Given the description of an element on the screen output the (x, y) to click on. 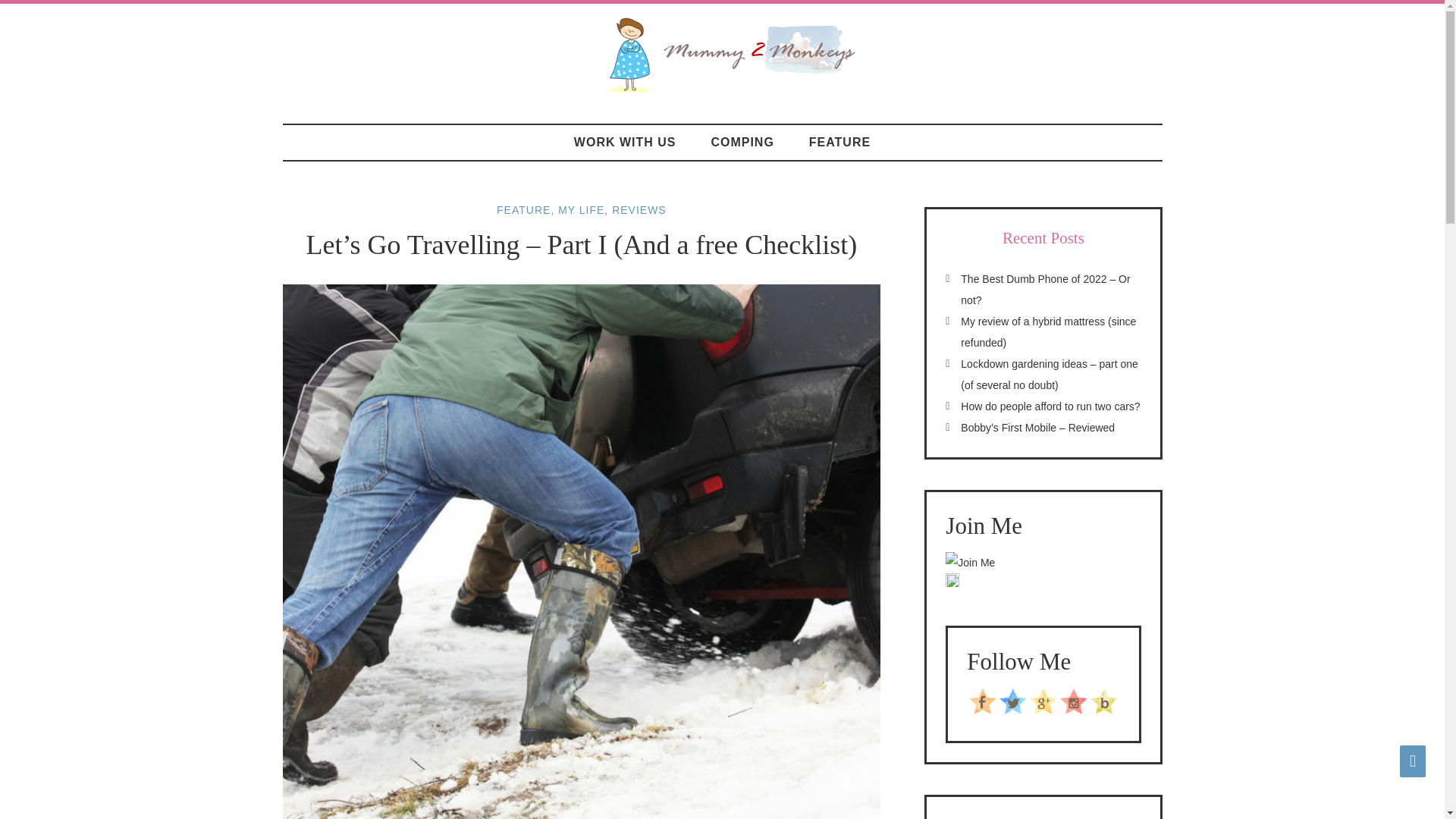
Googleplus (1043, 711)
FEATURE (839, 141)
Instagram (1073, 711)
MY LIFE (580, 209)
REVIEWS (638, 209)
Facebook (982, 711)
WORK WITH US (625, 141)
COMPING (741, 141)
Twitter (1012, 711)
Edit (951, 584)
How do people afford to run two cars? (1050, 406)
FEATURE (523, 209)
Bloglovin (1104, 711)
